Given the description of an element on the screen output the (x, y) to click on. 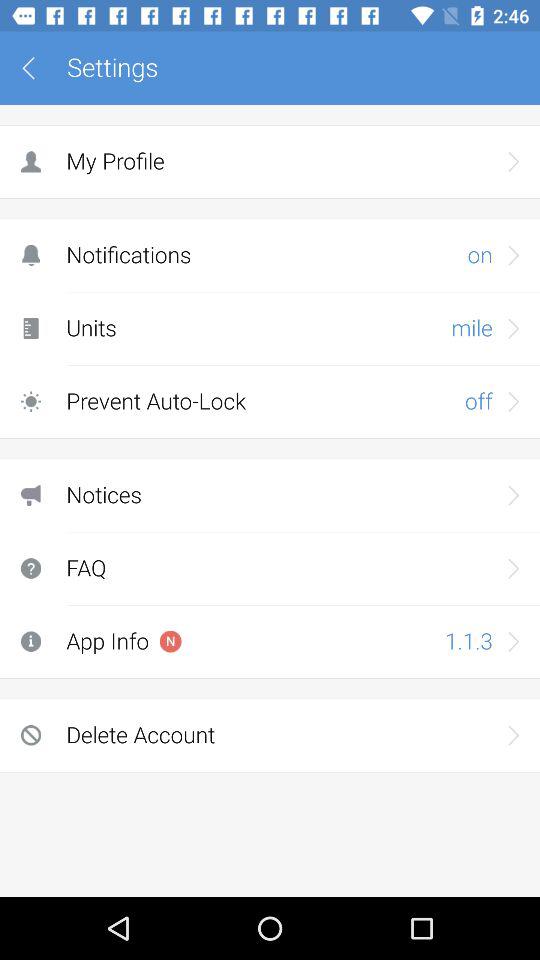
open app to the left of the settings (35, 67)
